Given the description of an element on the screen output the (x, y) to click on. 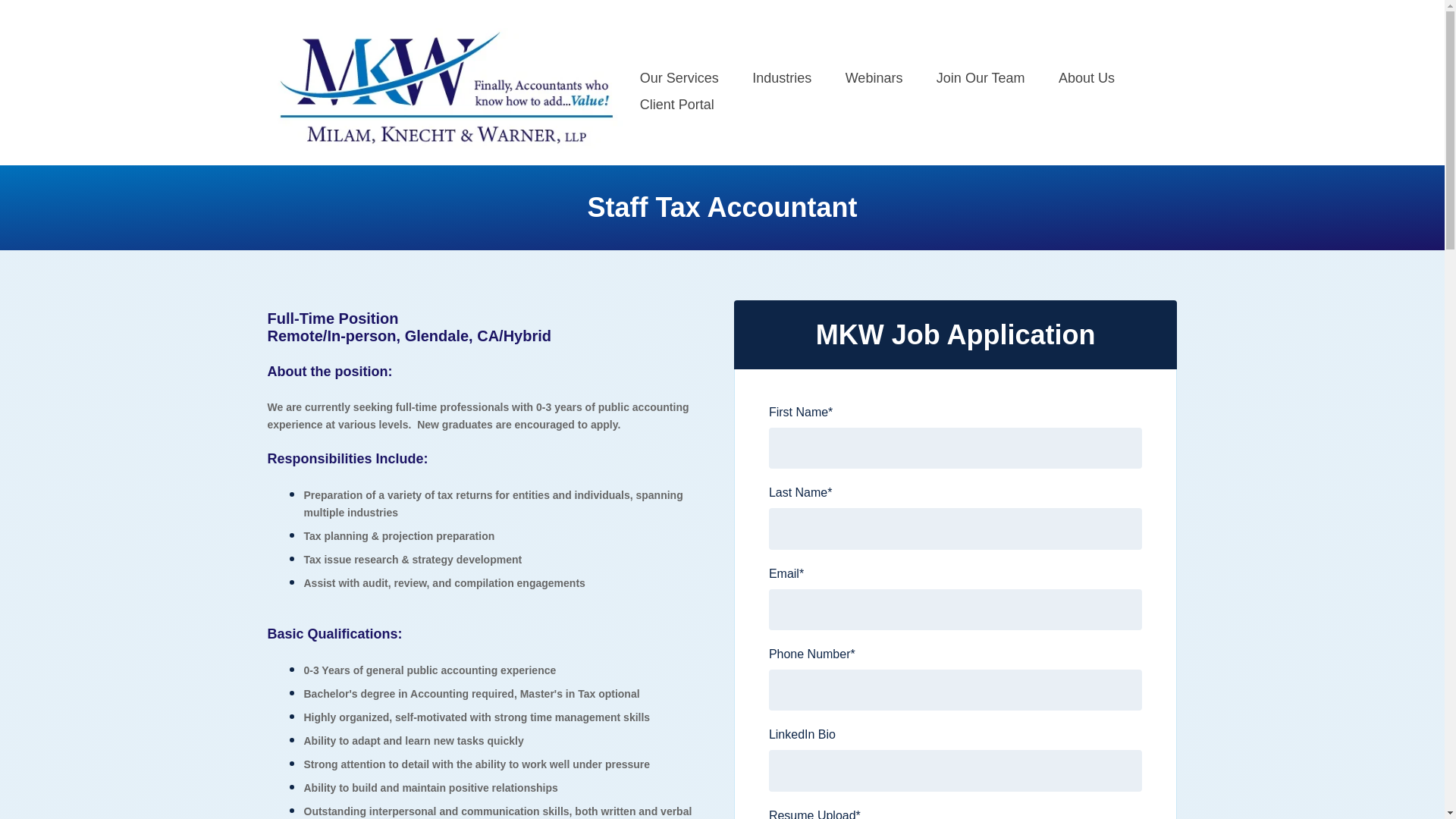
Join Our Team (980, 78)
Client Portal (677, 104)
Webinars (873, 78)
Industries (781, 78)
Our Services (679, 78)
MKW full logo 2021 (445, 88)
About Us (1086, 78)
